Given the description of an element on the screen output the (x, y) to click on. 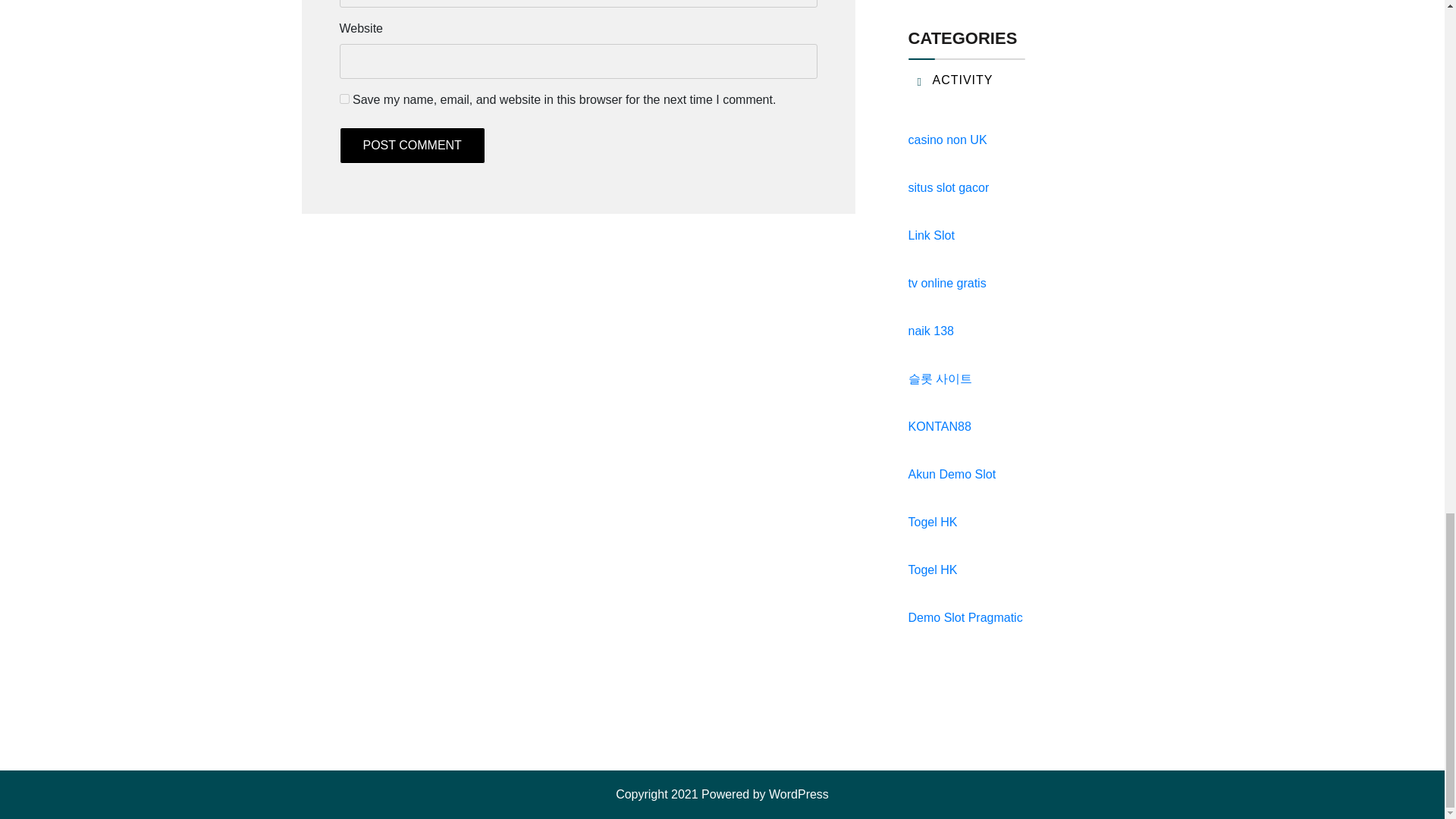
Post Comment (411, 145)
yes (344, 99)
Post Comment (411, 145)
